Given the description of an element on the screen output the (x, y) to click on. 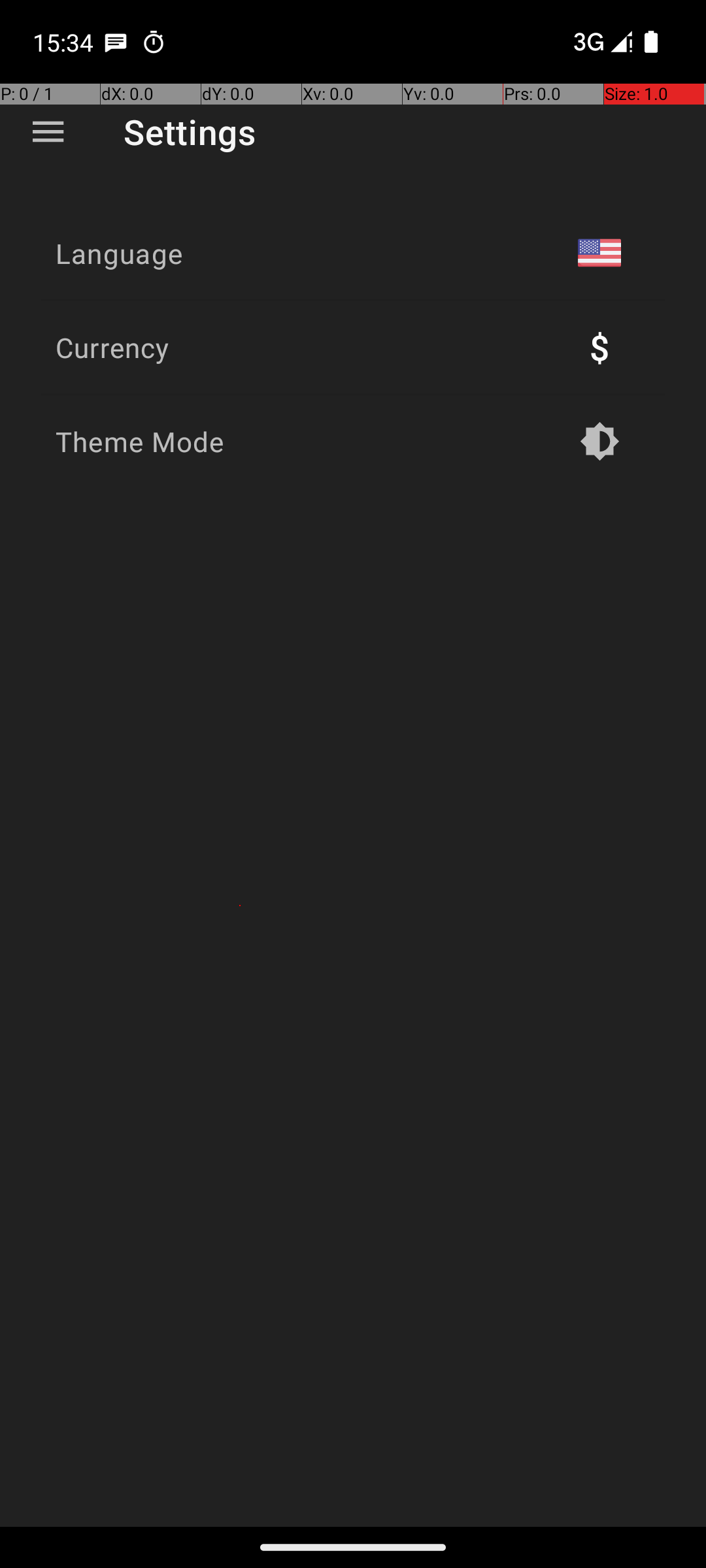
Currency Element type: android.widget.TextView (111, 346)
Theme Mode Element type: android.widget.TextView (139, 440)
